Given the description of an element on the screen output the (x, y) to click on. 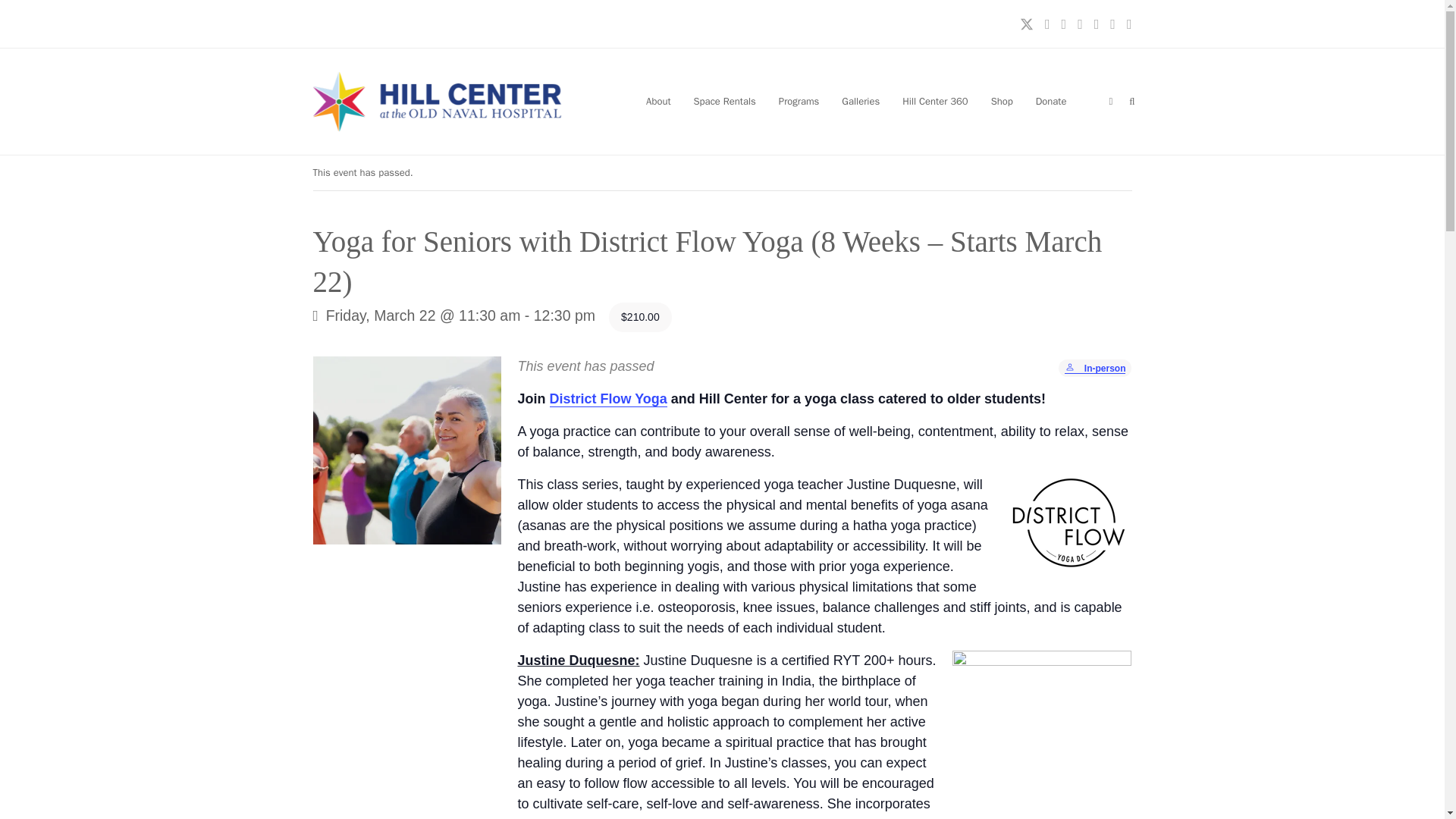
Donate (1051, 101)
Hill Center 360 (934, 101)
Shop (1002, 101)
In-person Events (1071, 368)
About (657, 101)
Galleries (860, 101)
Programs (799, 101)
Space Rentals (724, 101)
